Given the description of an element on the screen output the (x, y) to click on. 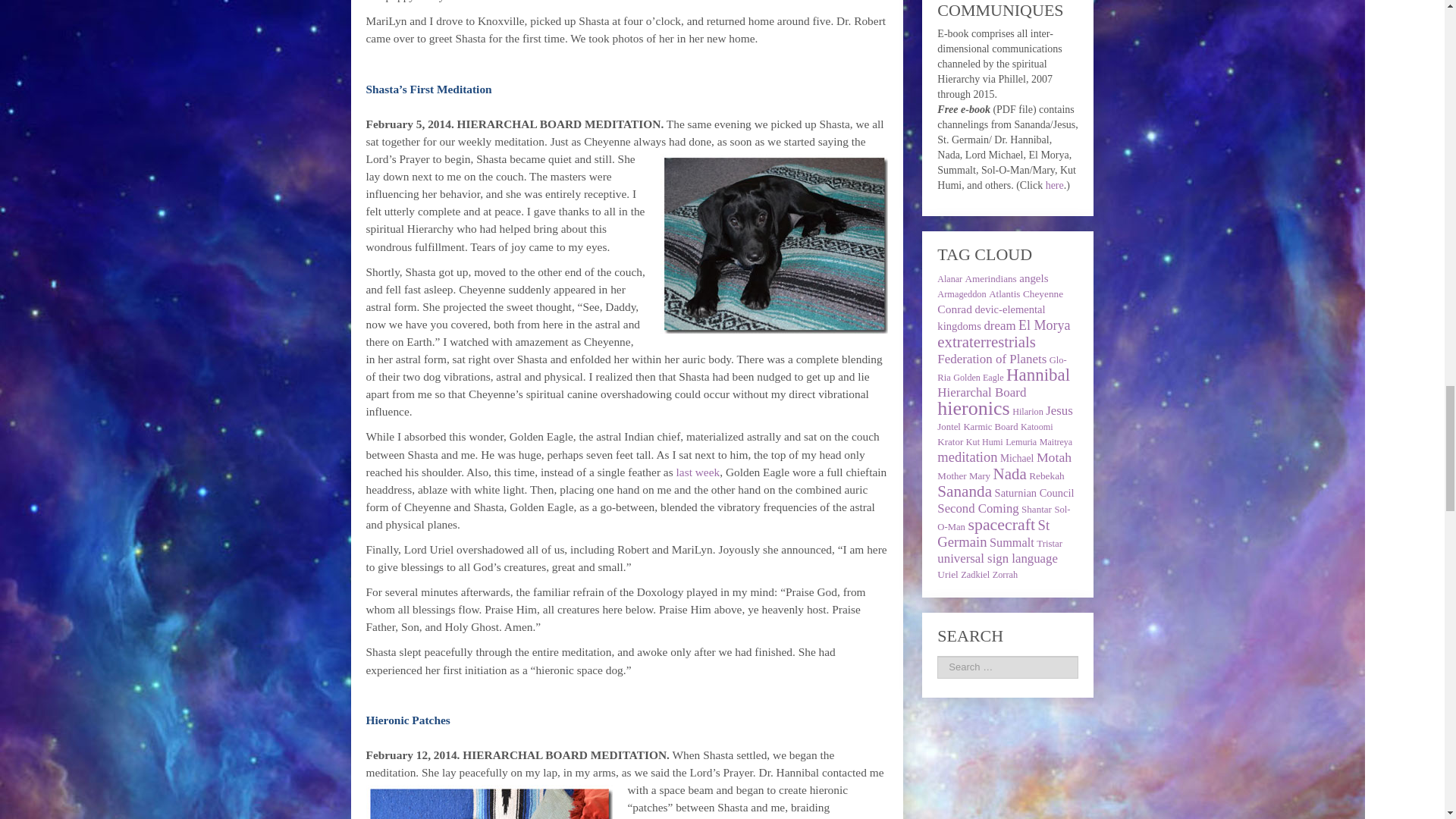
last week (698, 472)
